Given the description of an element on the screen output the (x, y) to click on. 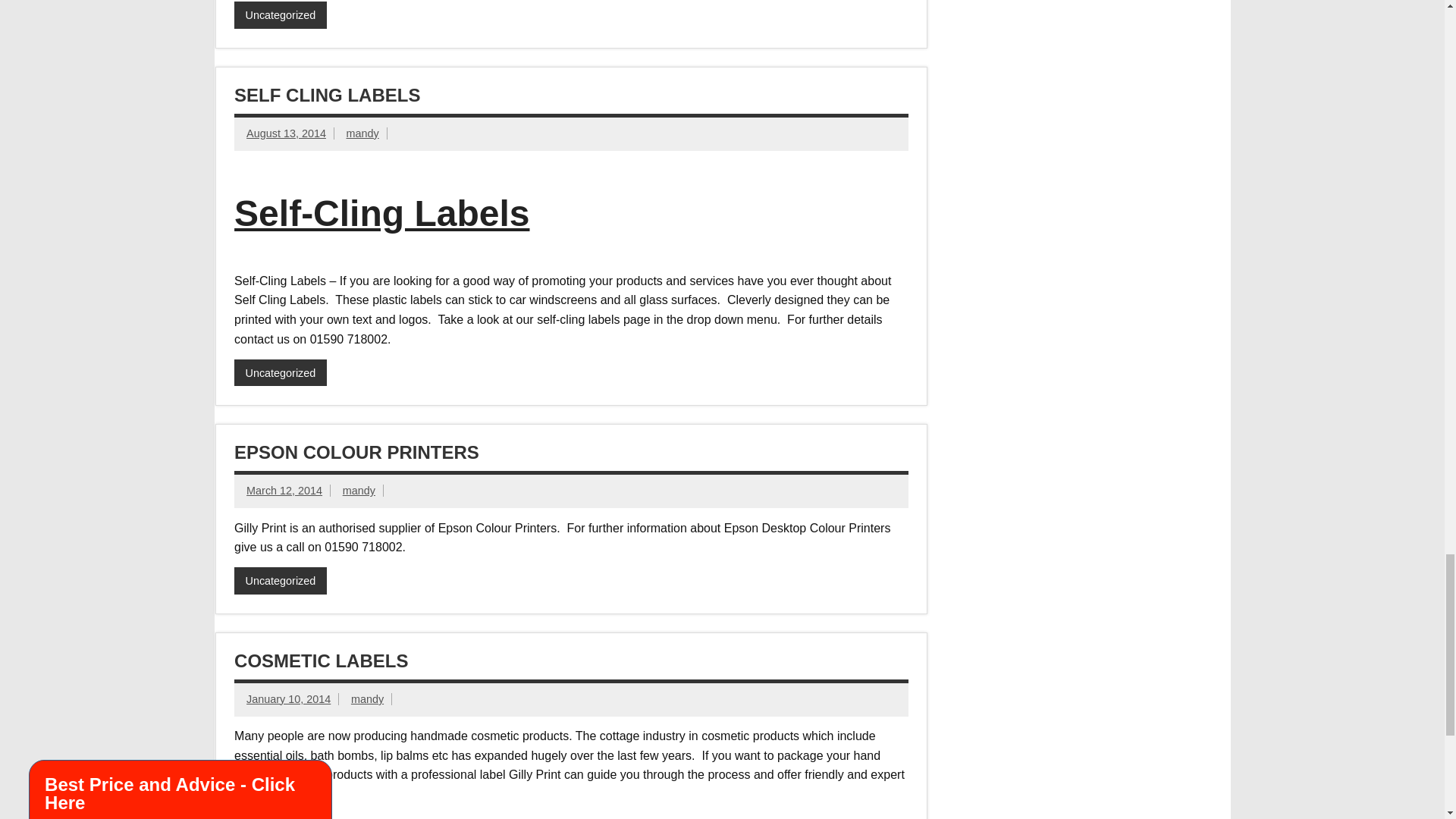
3:59 pm (286, 133)
View all posts by mandy (358, 490)
3:34 pm (288, 698)
12:46 pm (283, 490)
View all posts by mandy (362, 133)
View all posts by mandy (367, 698)
